Given the description of an element on the screen output the (x, y) to click on. 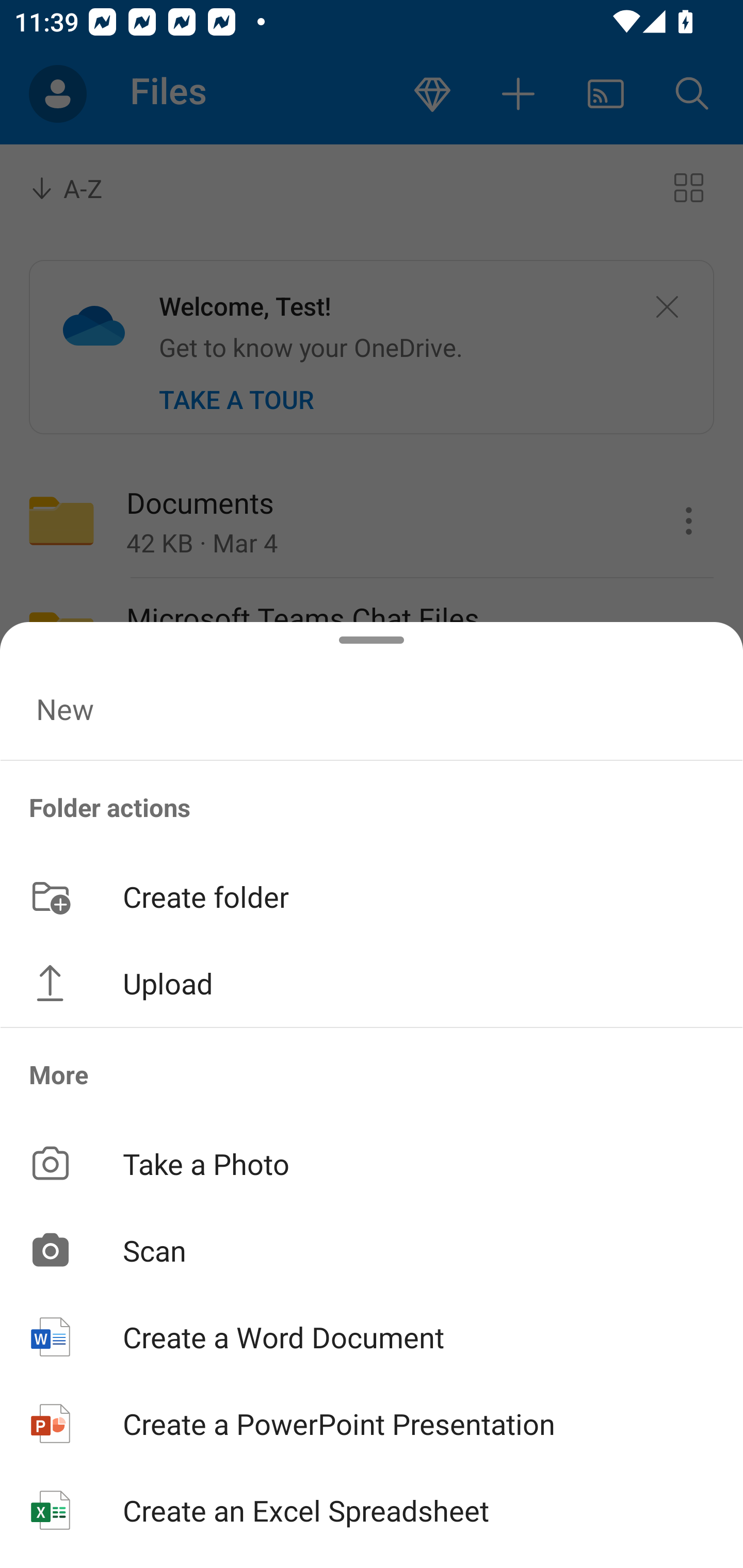
Create folder button Create folder (371, 895)
Upload button Upload (371, 983)
Take a Photo button Take a Photo (371, 1163)
Scan button Scan (371, 1250)
